Given the description of an element on the screen output the (x, y) to click on. 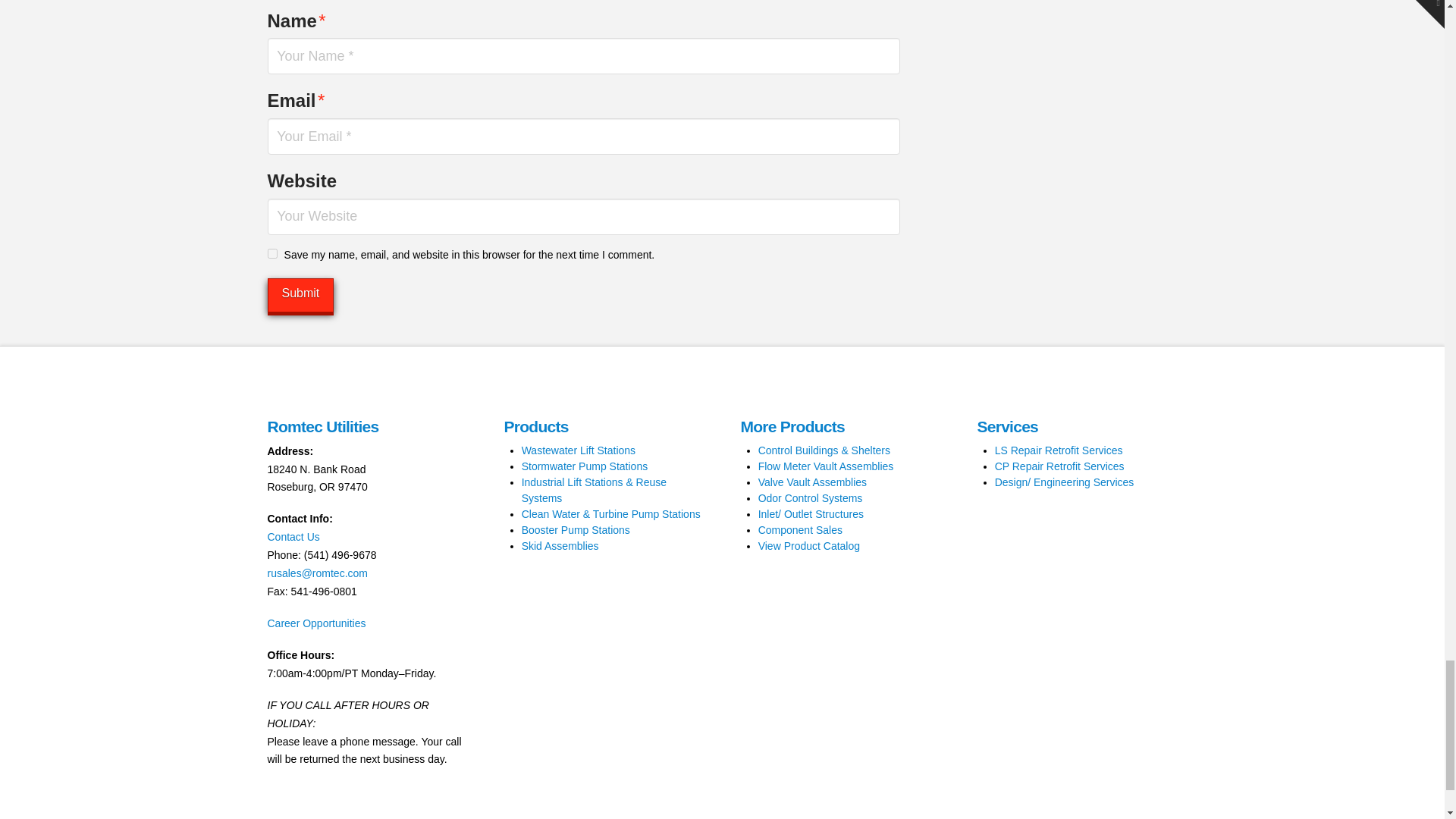
Submit (299, 295)
yes (271, 253)
